Given the description of an element on the screen output the (x, y) to click on. 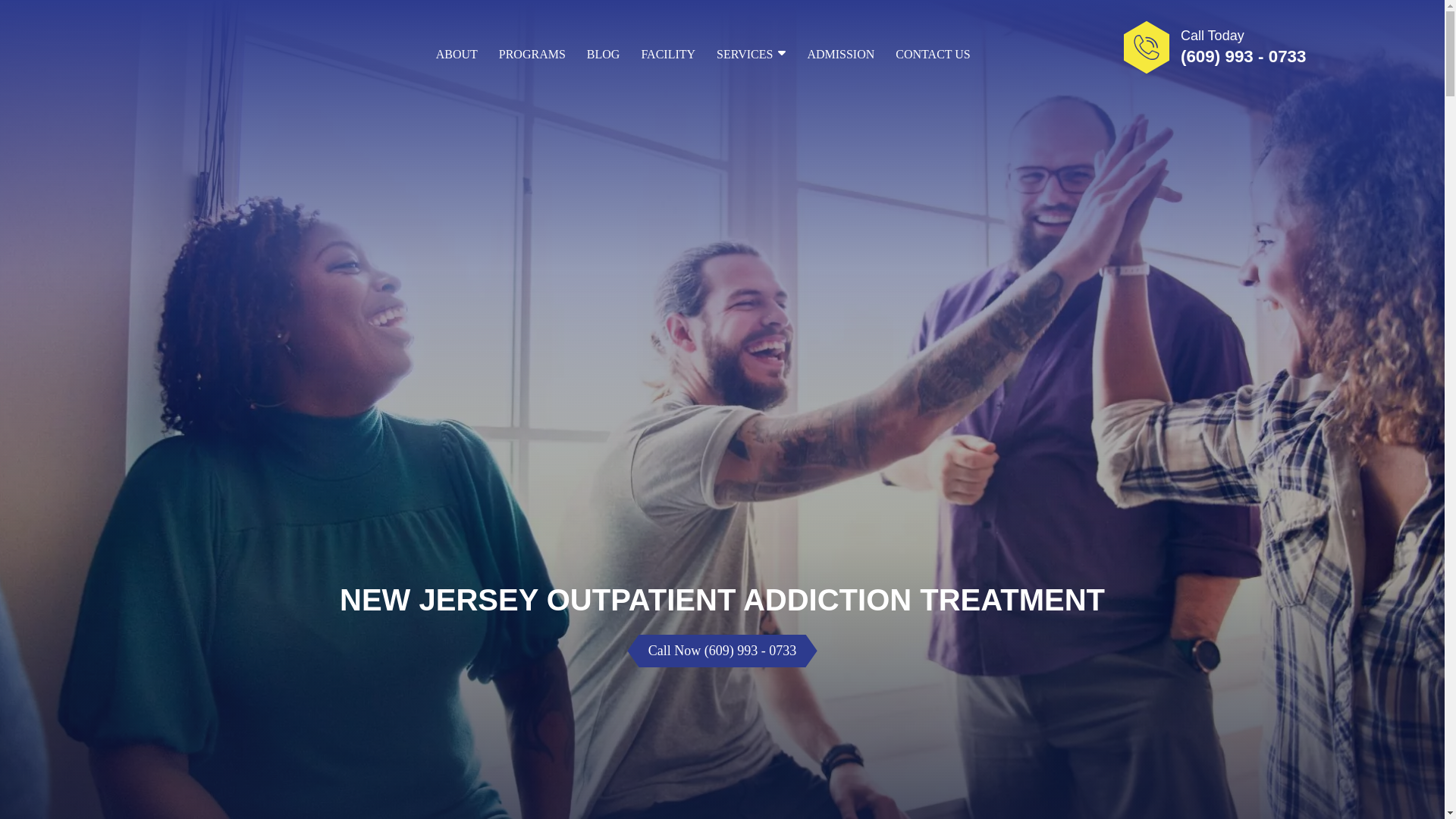
FACILITY (667, 54)
ADMISSION (840, 54)
BLOG (603, 54)
PROGRAMS (532, 54)
CONTACT US (932, 54)
ABOUT (456, 54)
SERVICES (751, 54)
